Given the description of an element on the screen output the (x, y) to click on. 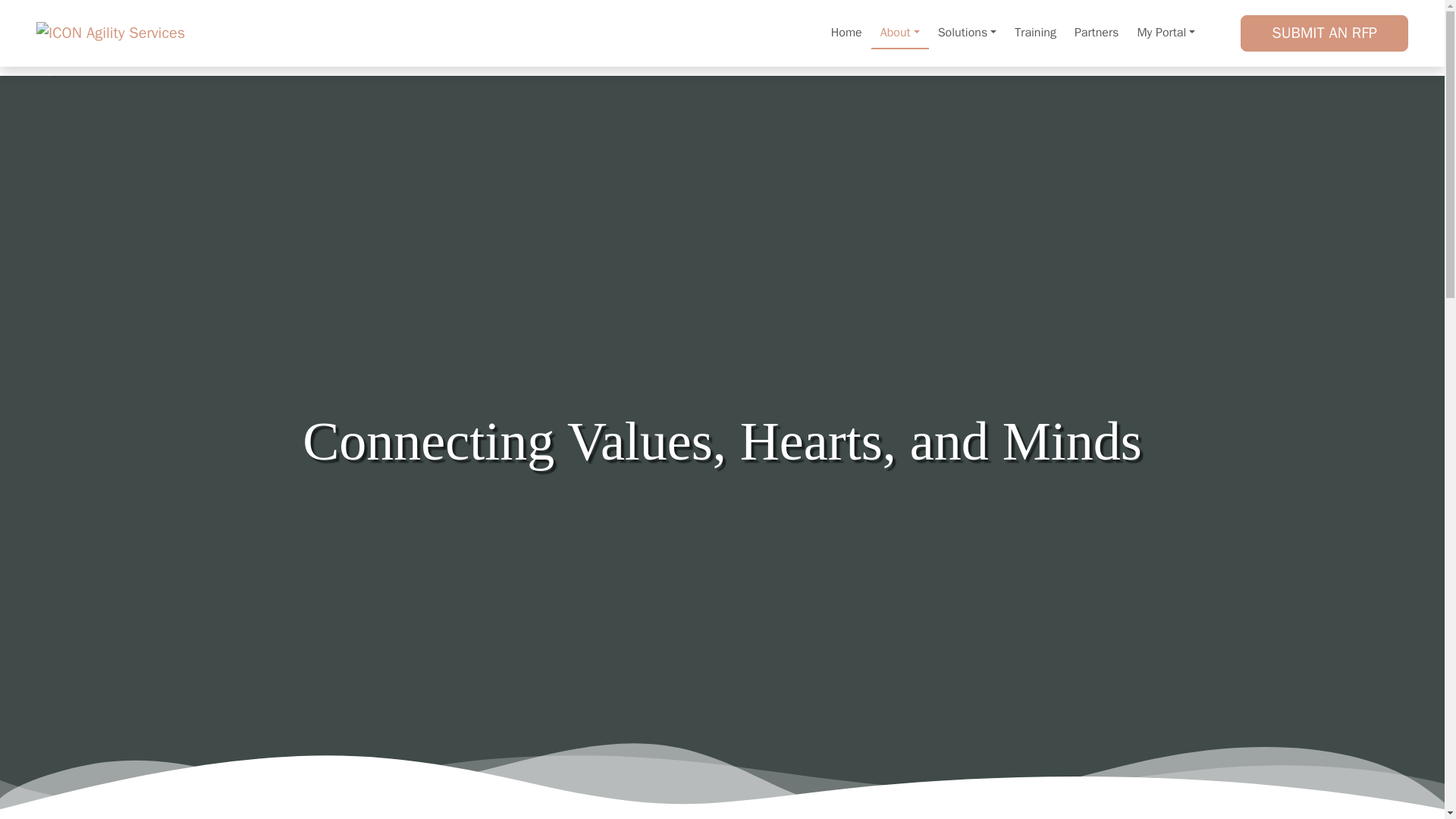
Partners (1095, 33)
My Portal (1165, 33)
About (899, 33)
SUBMIT AN RFP (1323, 33)
Solutions (967, 33)
Training (1035, 33)
Home (846, 33)
